Given the description of an element on the screen output the (x, y) to click on. 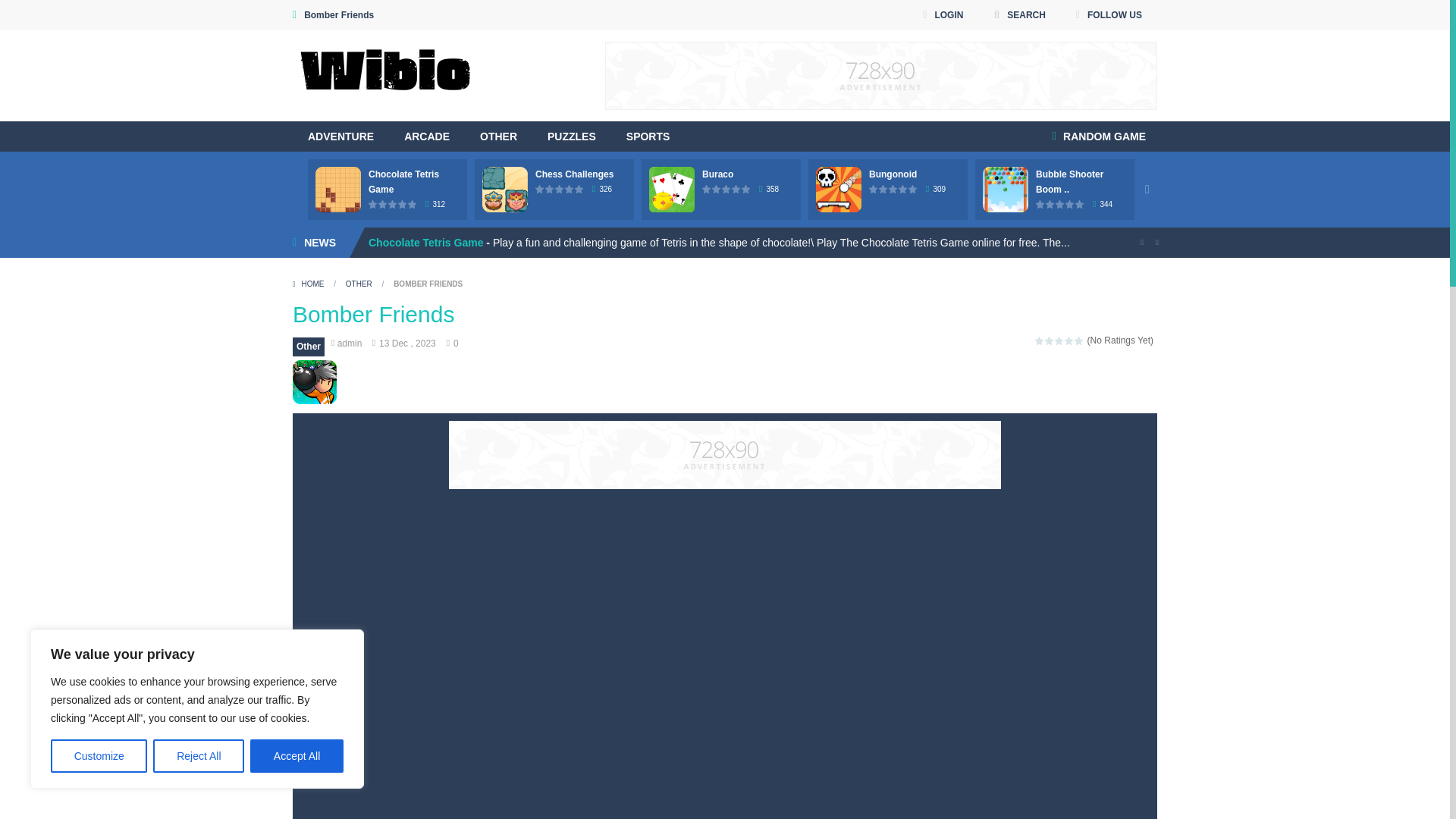
Reject All (198, 756)
Customize (98, 756)
0 votes, average: 0.00 out of 5 (559, 189)
OTHER (498, 136)
Wibio (385, 75)
0 votes, average: 0.00 out of 5 (402, 203)
Bungonoid (893, 173)
Accept All (296, 756)
0 votes, average: 0.00 out of 5 (549, 189)
0 votes, average: 0.00 out of 5 (392, 203)
Bubble Shooter Boom .. (1069, 181)
PUZZLES (571, 136)
Wibio (385, 74)
Chocolate Tetris Game (403, 181)
Buraco (717, 173)
